Given the description of an element on the screen output the (x, y) to click on. 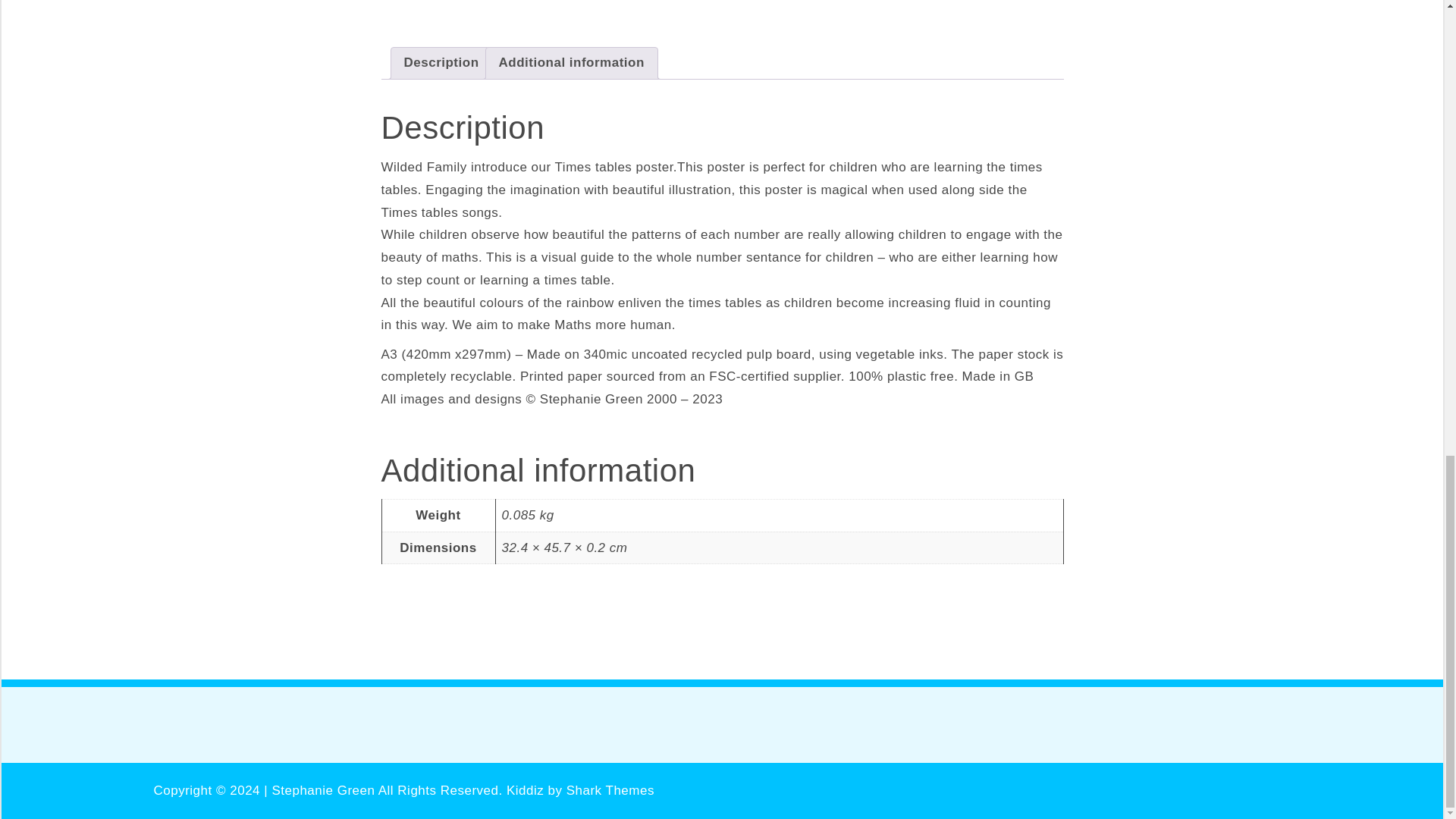
Shark Themes (609, 789)
Additional information (572, 62)
Description (441, 62)
